Given the description of an element on the screen output the (x, y) to click on. 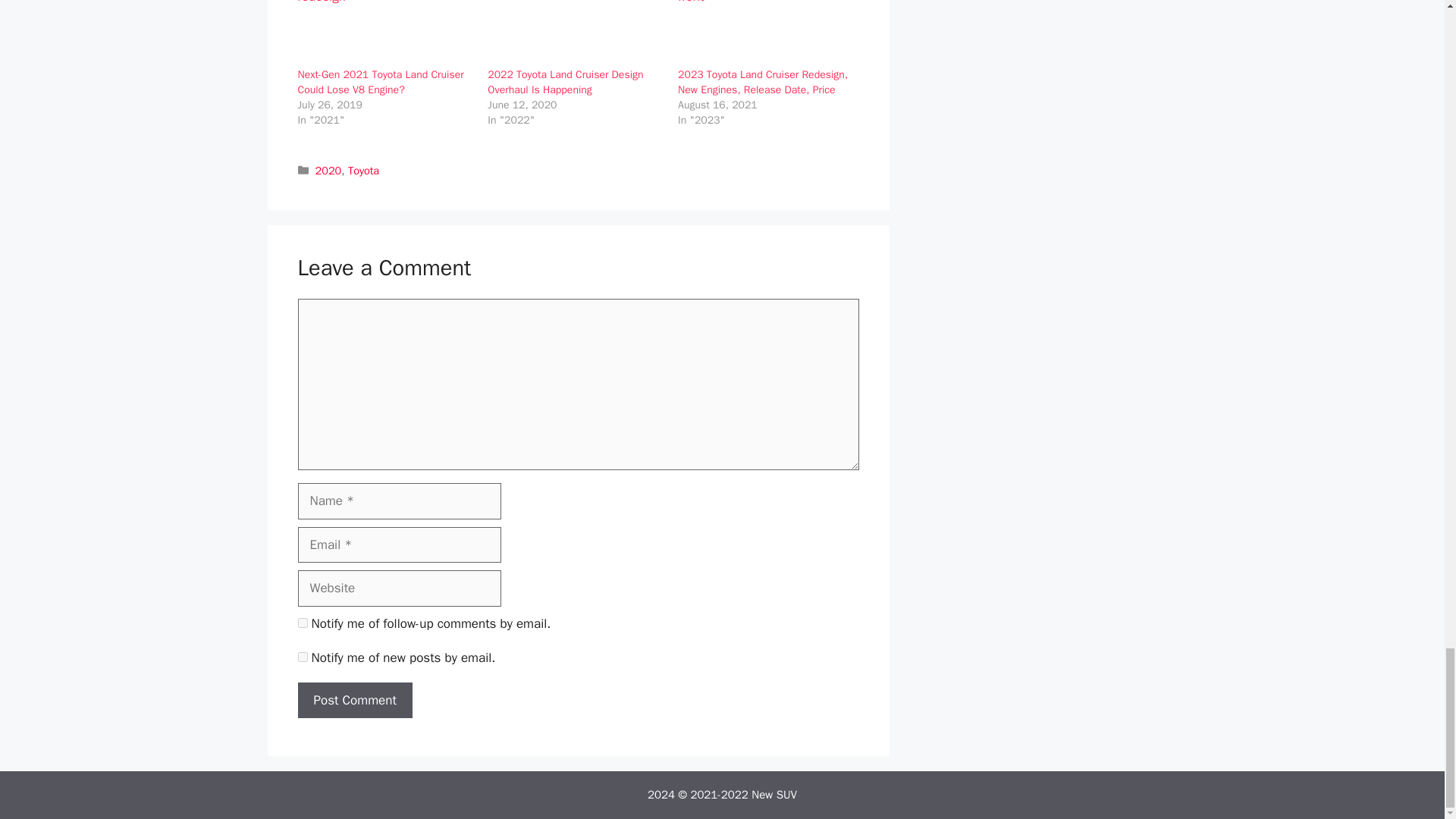
subscribe (302, 656)
2022 Toyota Land Cruiser  Design Overhaul Is Happening (565, 81)
subscribe (302, 623)
2022 Toyota Land Cruiser  Design Overhaul Is Happening (574, 33)
2022 Toyota Land Cruiser Design Overhaul Is Happening (565, 81)
Next-Gen 2021 Toyota Land Cruiser Could Lose V8 Engine? (384, 33)
Post Comment (354, 700)
Next-Gen 2021 Toyota Land Cruiser Could Lose V8 Engine? (380, 81)
Next-Gen 2021 Toyota Land Cruiser Could Lose V8 Engine? (380, 81)
